Given the description of an element on the screen output the (x, y) to click on. 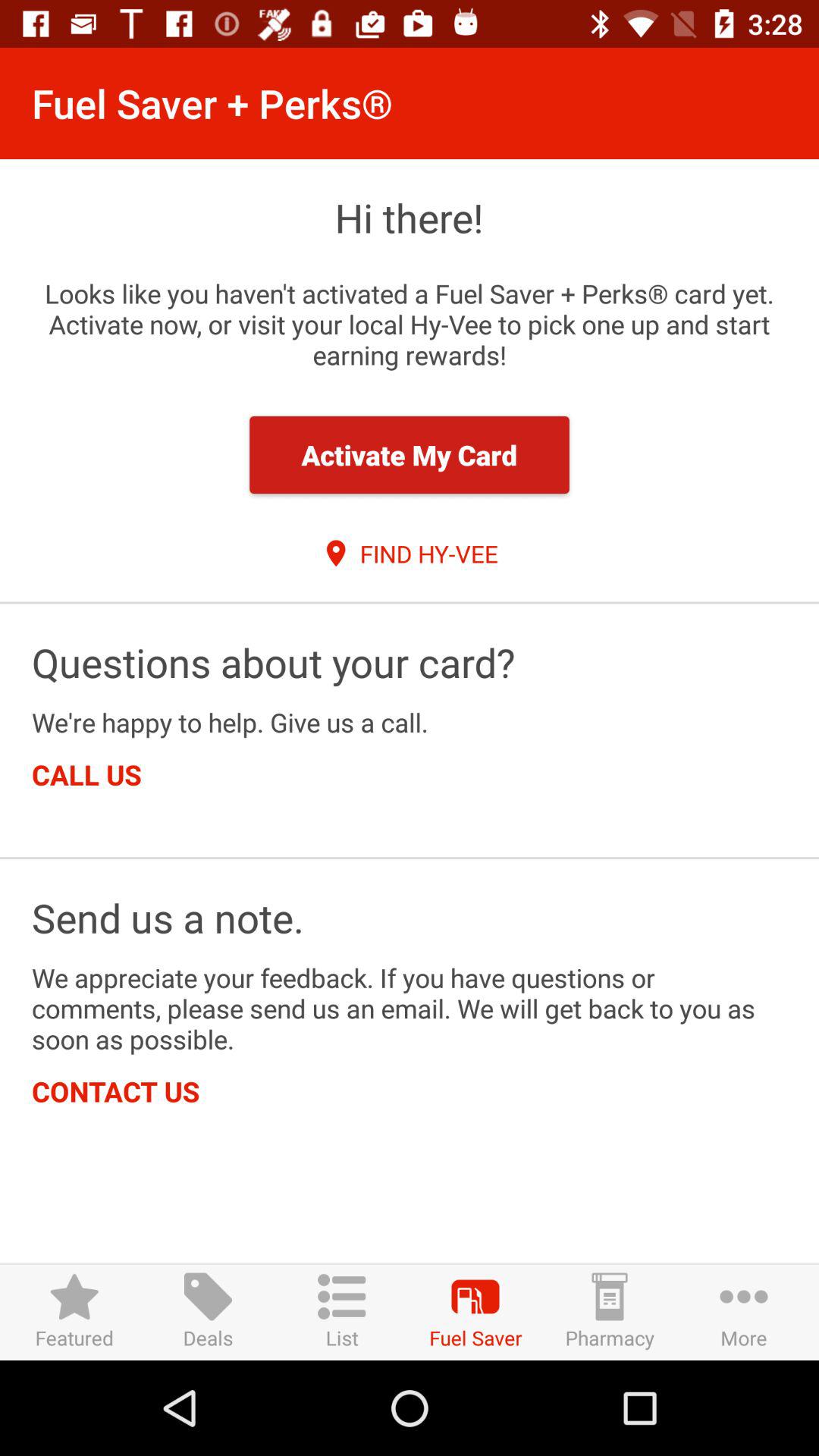
open item below we appreciate your (115, 1091)
